Given the description of an element on the screen output the (x, y) to click on. 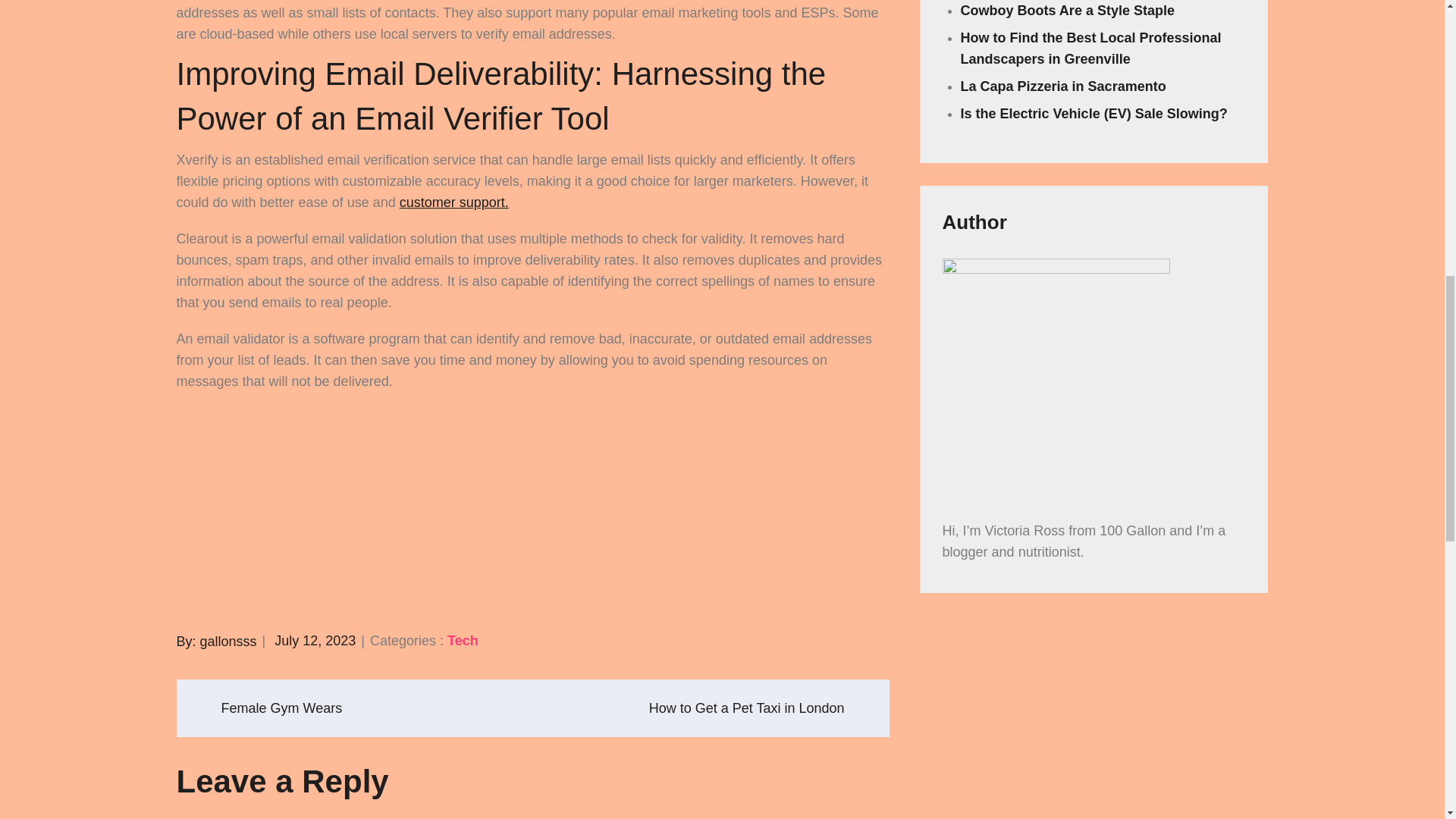
Tech (462, 640)
July 12, 2023 (315, 640)
customer support. (453, 201)
La Capa Pizzeria in Sacramento (1063, 86)
Cowboy Boots Are a Style Staple (1067, 10)
gallonsss (228, 640)
